Given the description of an element on the screen output the (x, y) to click on. 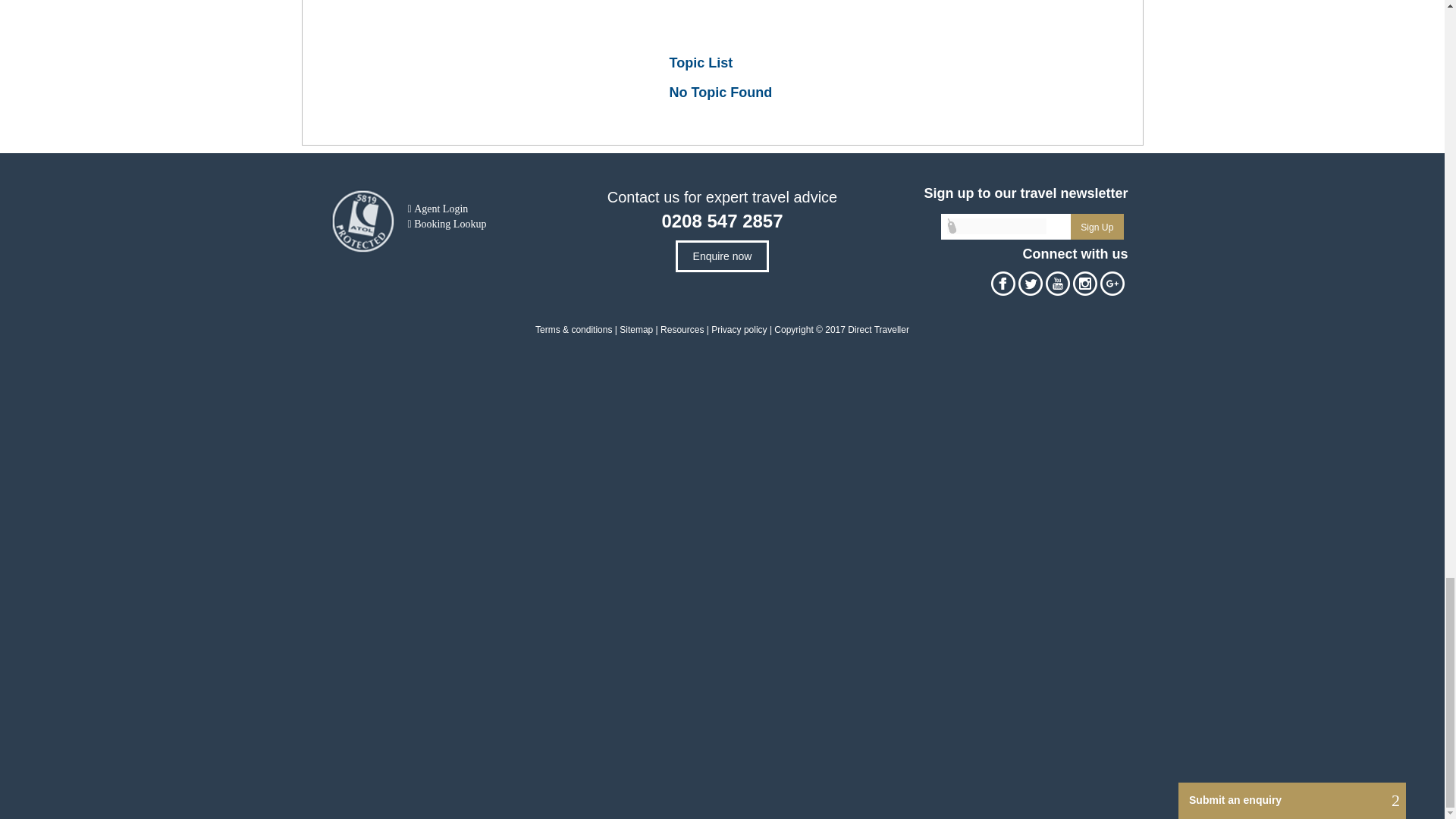
Sign Up (1097, 226)
